Given the description of an element on the screen output the (x, y) to click on. 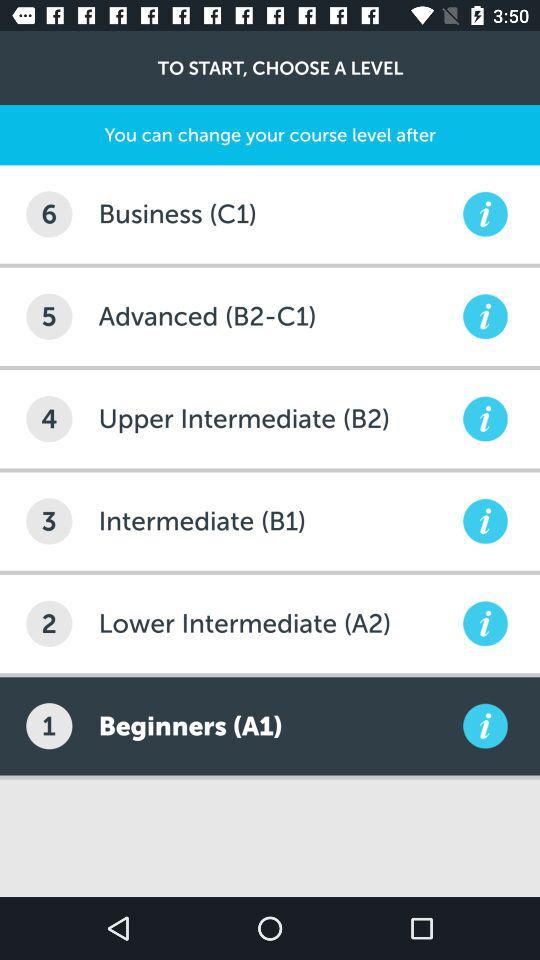
flip until the 6 (49, 214)
